Given the description of an element on the screen output the (x, y) to click on. 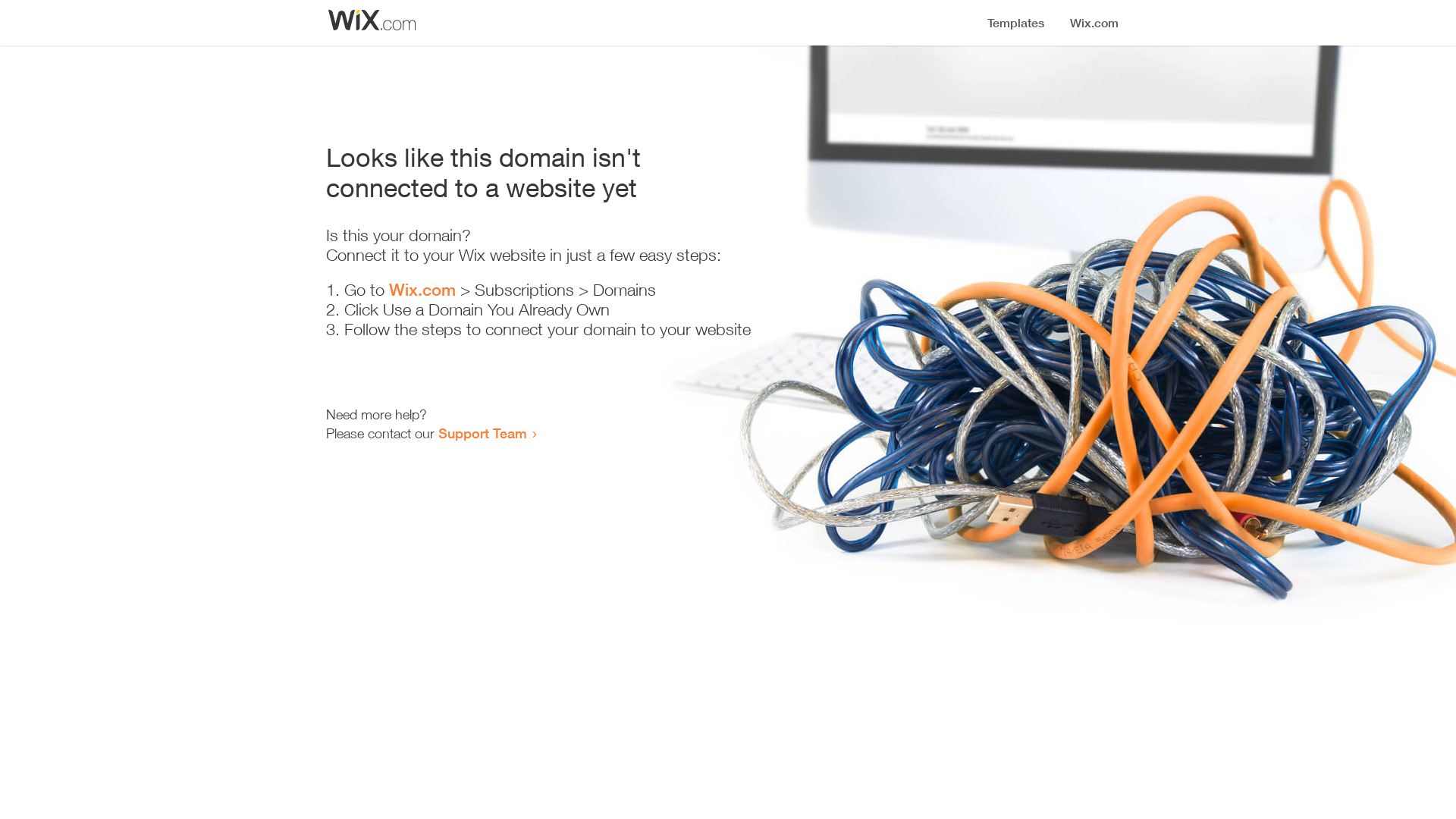
Support Team Element type: text (482, 432)
Wix.com Element type: text (422, 289)
